Given the description of an element on the screen output the (x, y) to click on. 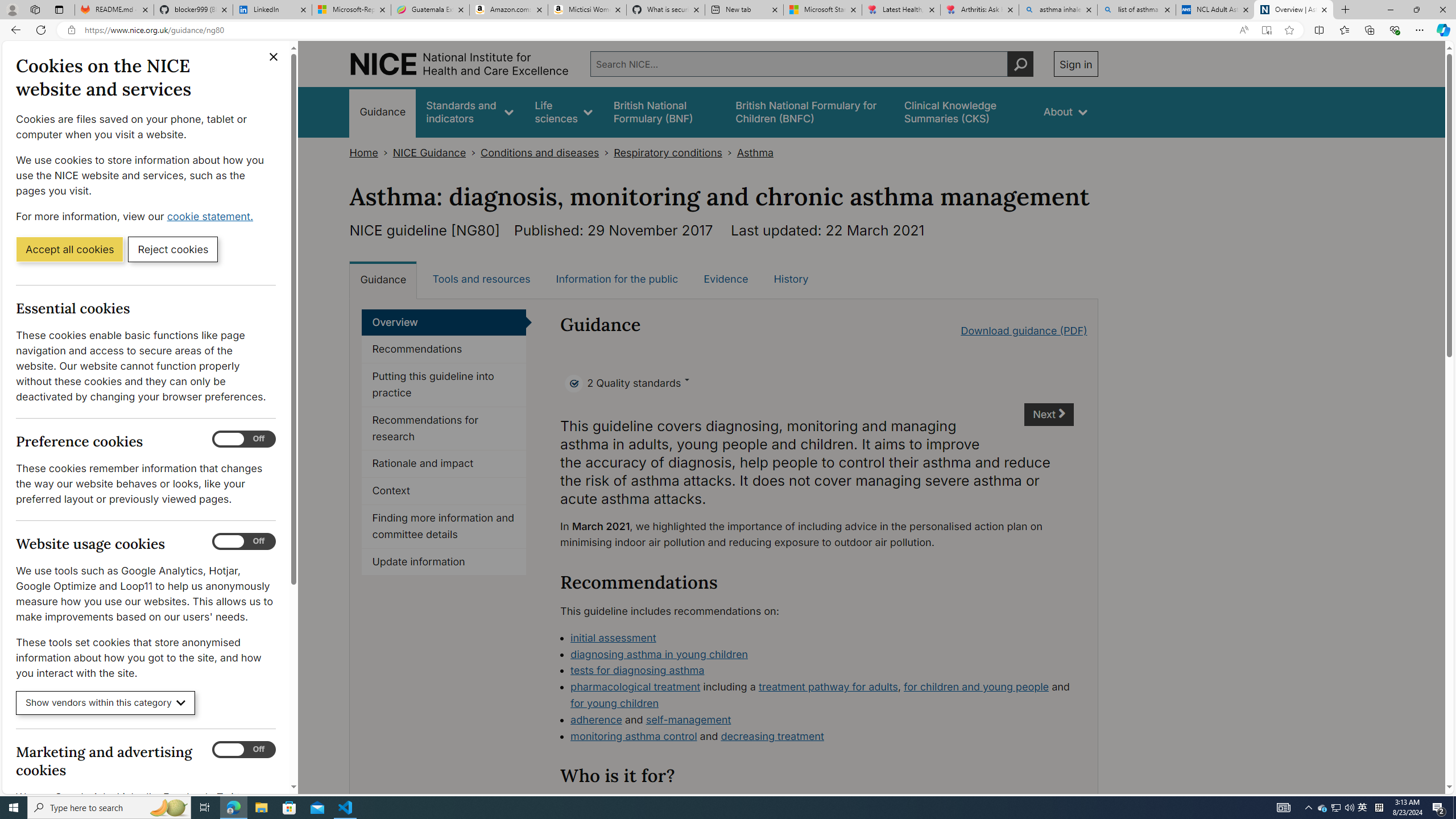
treatment pathway for adults (828, 686)
Finding more information and committee details (444, 526)
initial assessment (822, 638)
Information for the public (617, 279)
Next chapter (1049, 414)
Asthma (755, 152)
Putting this guideline into practice (443, 385)
